Given the description of an element on the screen output the (x, y) to click on. 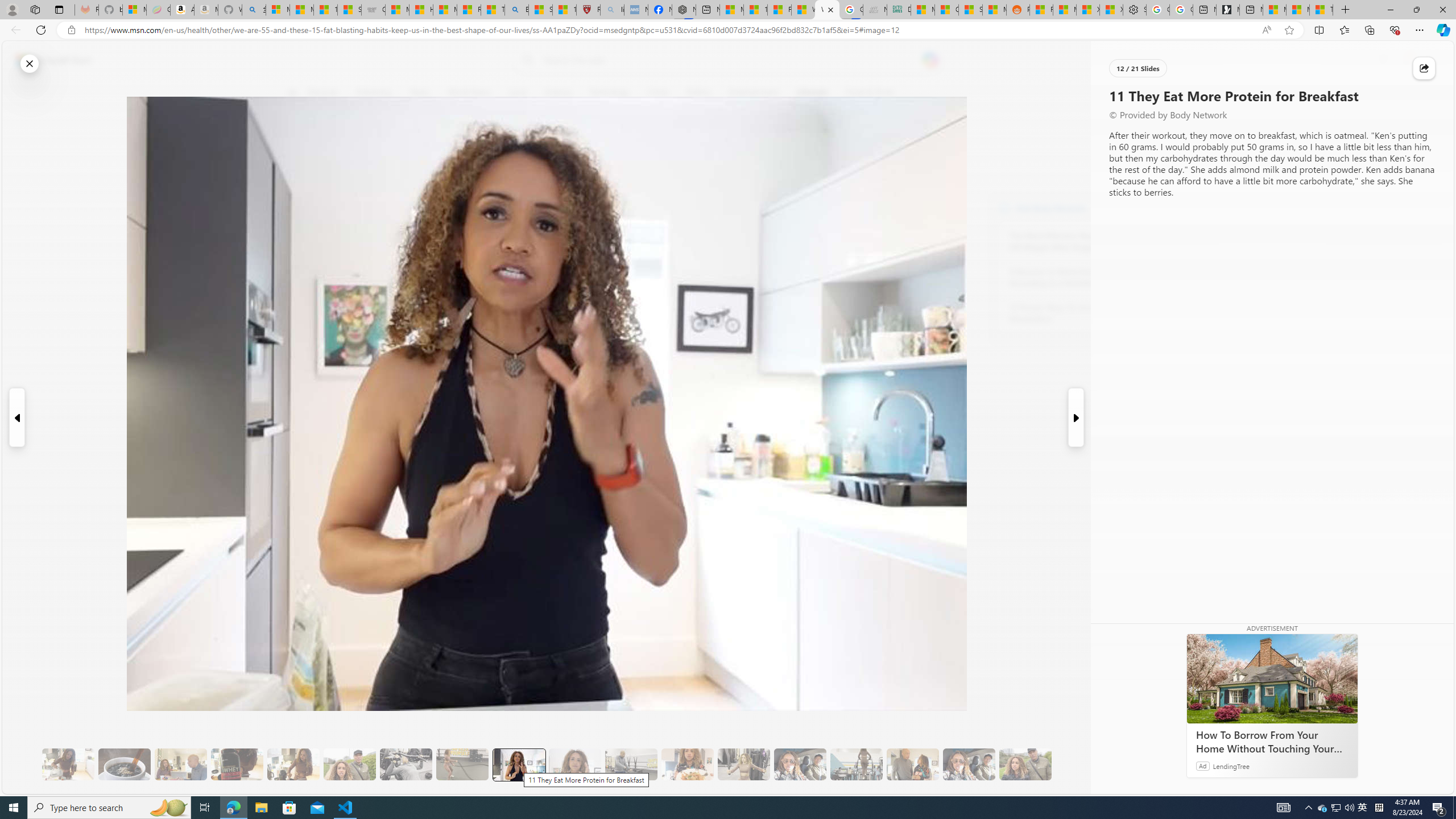
10 Then, They Do HIIT Cardio (462, 764)
6 Since Eating More Protein Her Training Has Improved (237, 764)
Body Network (449, 147)
5 She Eats Less Than Her Husband (180, 764)
14 They Have Salmon and Veggies for Dinner (687, 764)
